Given the description of an element on the screen output the (x, y) to click on. 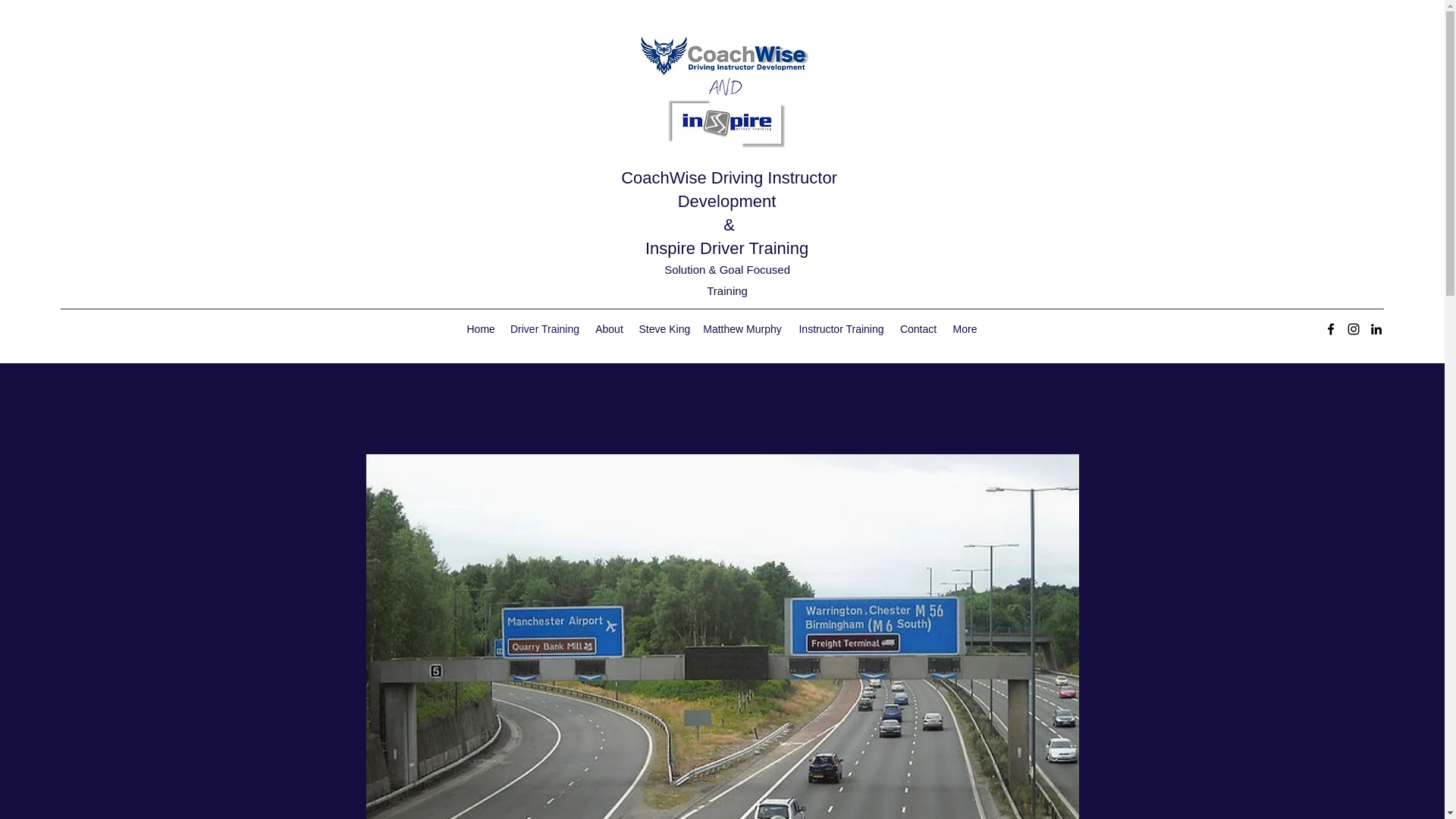
Matthew Murphy (742, 328)
Contact (917, 328)
About (608, 328)
Instructor Training (840, 328)
Steve King (662, 328)
Home (481, 328)
CoachWise Driving Instructor Development  (729, 189)
Driver Training (544, 328)
